Given the description of an element on the screen output the (x, y) to click on. 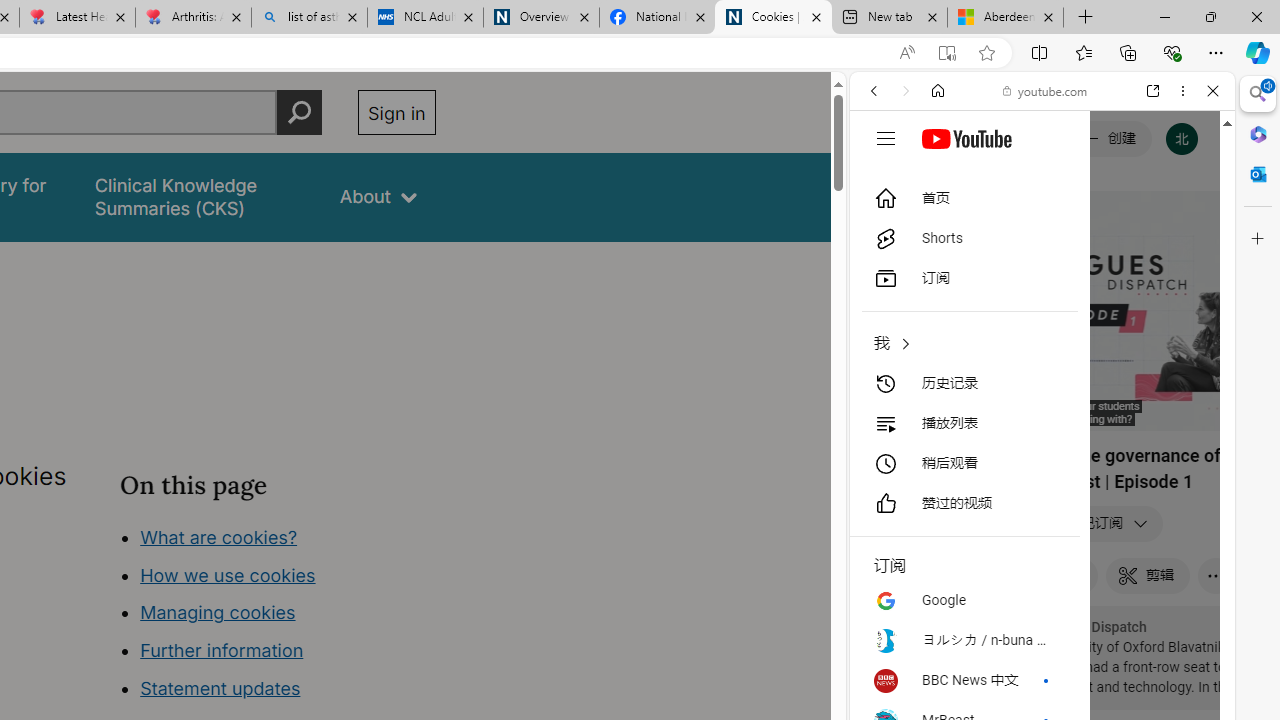
Search Filter, Search Tools (1093, 228)
Music (1042, 543)
Show More Music (1164, 546)
Statement updates (219, 688)
youtube.com (1046, 90)
